Given the description of an element on the screen output the (x, y) to click on. 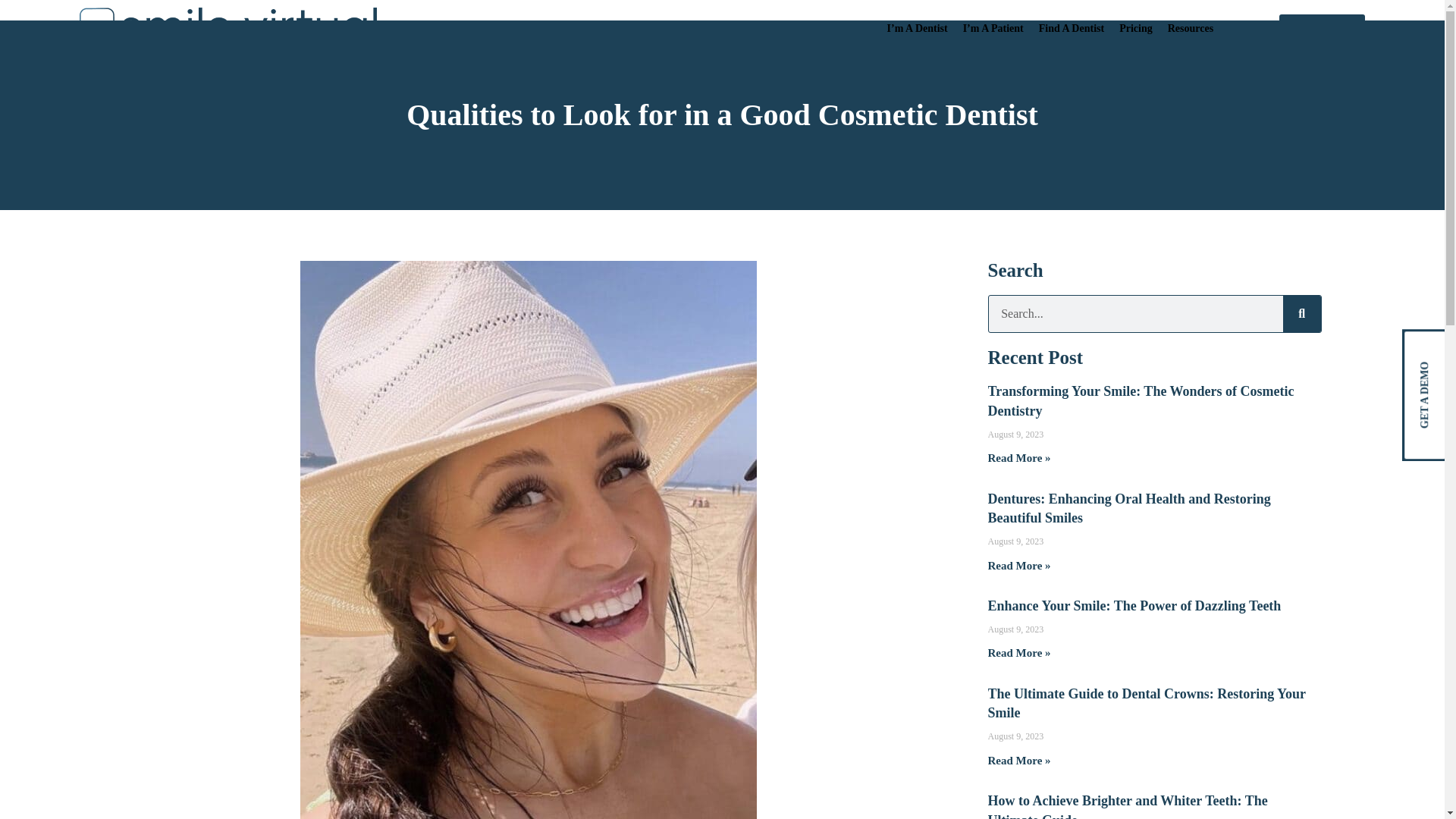
GET A DEMO (1321, 28)
Sign In (1246, 28)
Resources (1189, 28)
Transforming Your Smile: The Wonders of Cosmetic Dentistry (1141, 401)
Find A Dentist (1071, 28)
Enhance Your Smile: The Power of Dazzling Teeth (1134, 605)
Pricing (1136, 28)
